Given the description of an element on the screen output the (x, y) to click on. 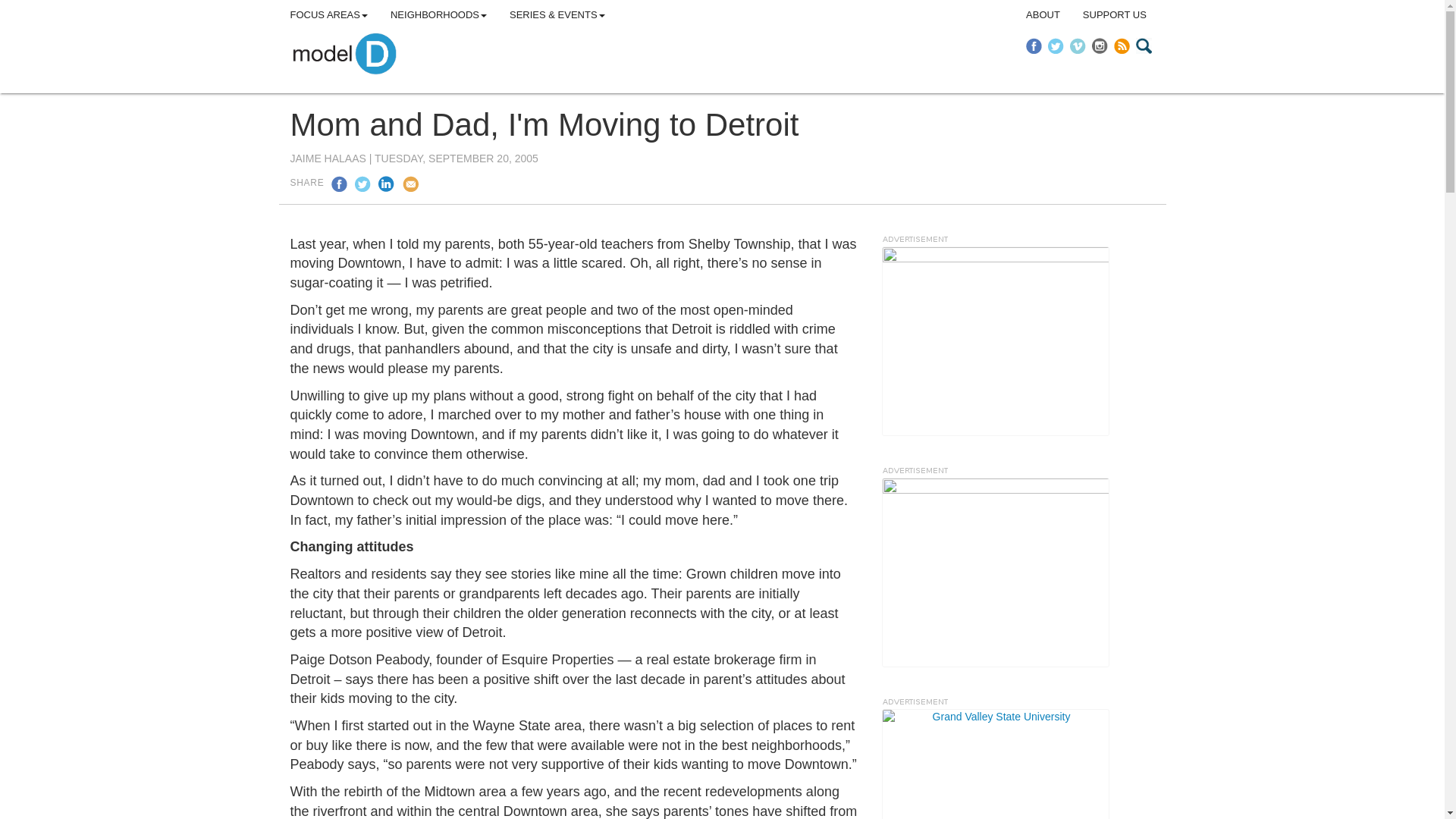
Subscribe to the Model D RSS feed! (1122, 45)
FOCUS AREAS (328, 15)
NEIGHBORHOODS (437, 15)
Grand Valley State University  (994, 764)
